Given the description of an element on the screen output the (x, y) to click on. 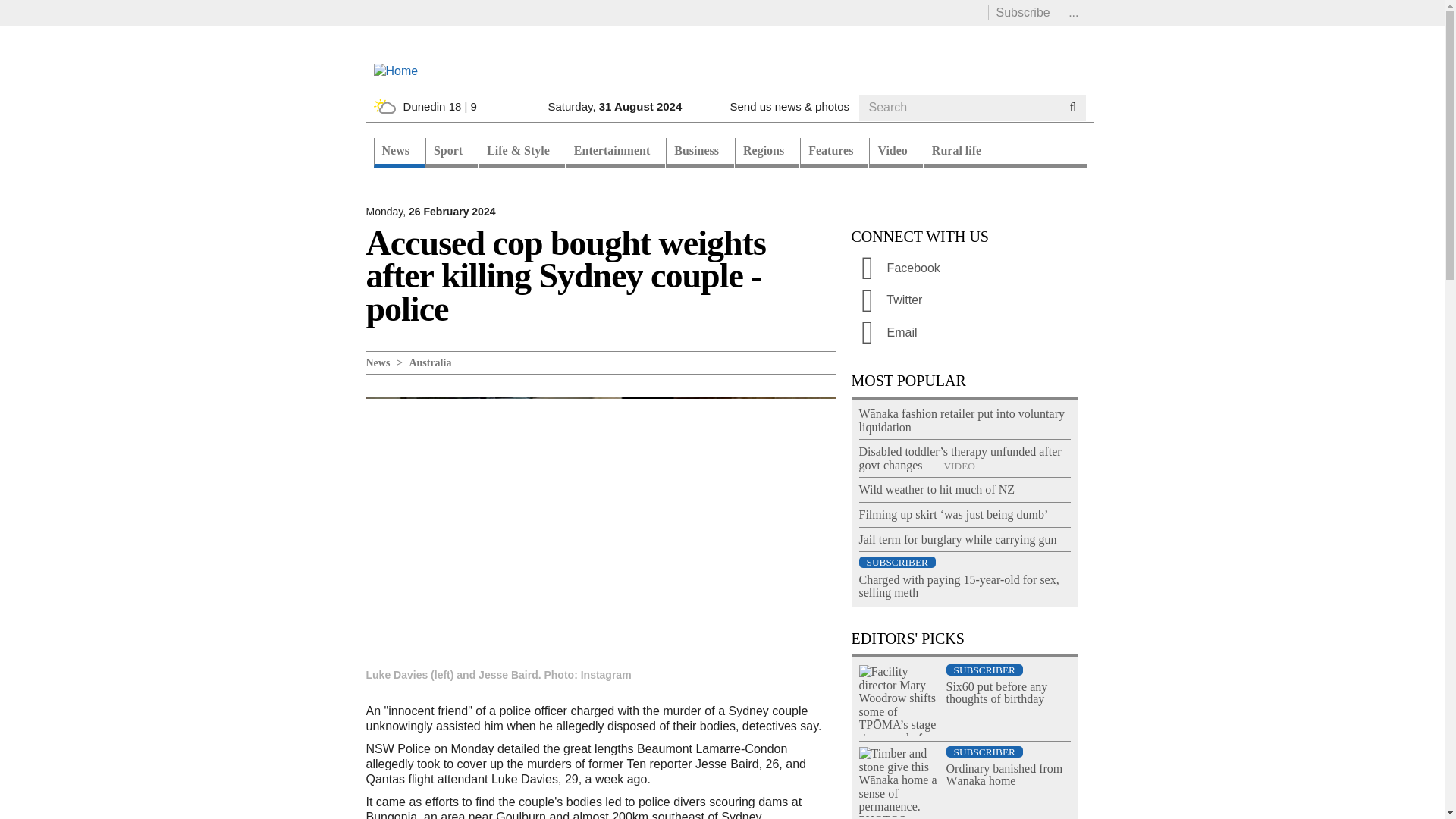
Subscribe (1022, 11)
Search (888, 125)
Sport (451, 152)
News (397, 152)
Partly cloudy (383, 105)
Enter the terms you wish to search for. (959, 107)
Home (394, 70)
